Given the description of an element on the screen output the (x, y) to click on. 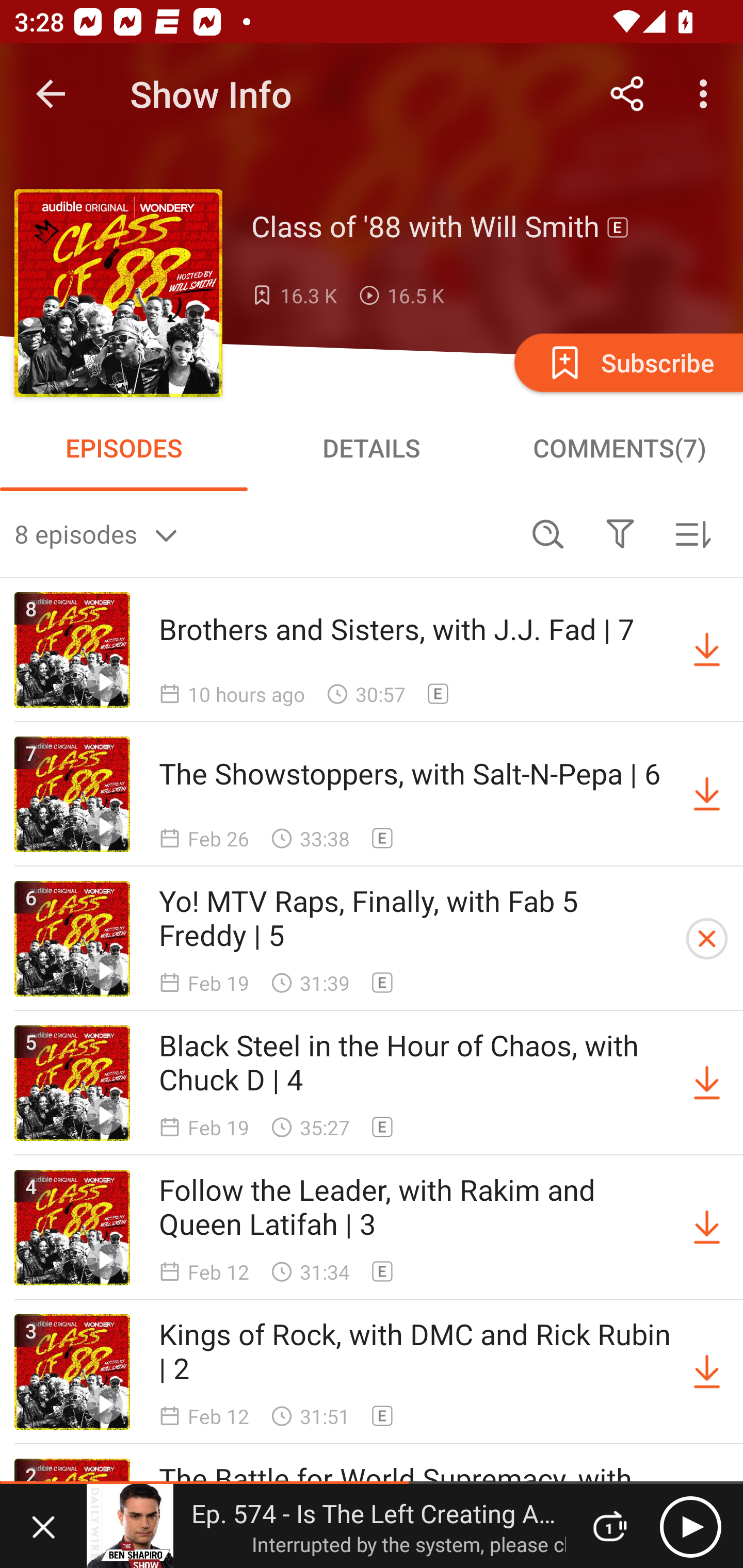
Navigate up (50, 93)
Share (626, 93)
More options (706, 93)
Subscribe (627, 361)
EPISODES (123, 447)
DETAILS (371, 447)
COMMENTS(7) (619, 447)
8 episodes  (262, 533)
 Search (547, 533)
 (619, 533)
 Sorted by newest first (692, 533)
Download (706, 649)
Download (706, 793)
Cancel Downloading (706, 939)
Download (706, 1083)
Download (706, 1227)
Download (706, 1371)
Play (690, 1526)
